Given the description of an element on the screen output the (x, y) to click on. 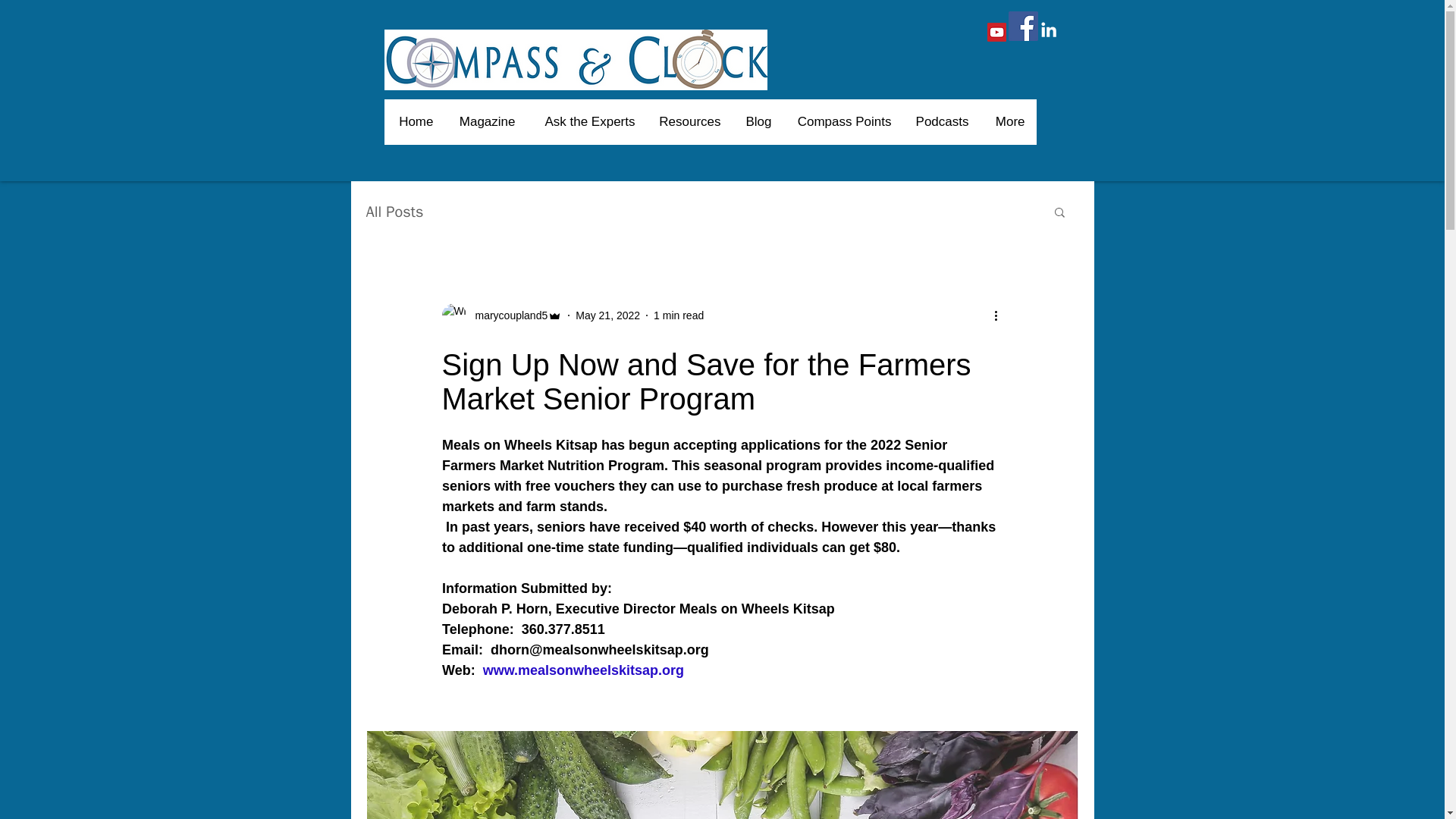
Magazine (484, 121)
Home (415, 121)
1 min read (678, 315)
Blog (757, 121)
marycoupland5 (506, 315)
www.mealsonwheelskitsap.org (581, 670)
All Posts (394, 211)
Podcasts (940, 121)
More (1007, 121)
Resources (689, 121)
